Given the description of an element on the screen output the (x, y) to click on. 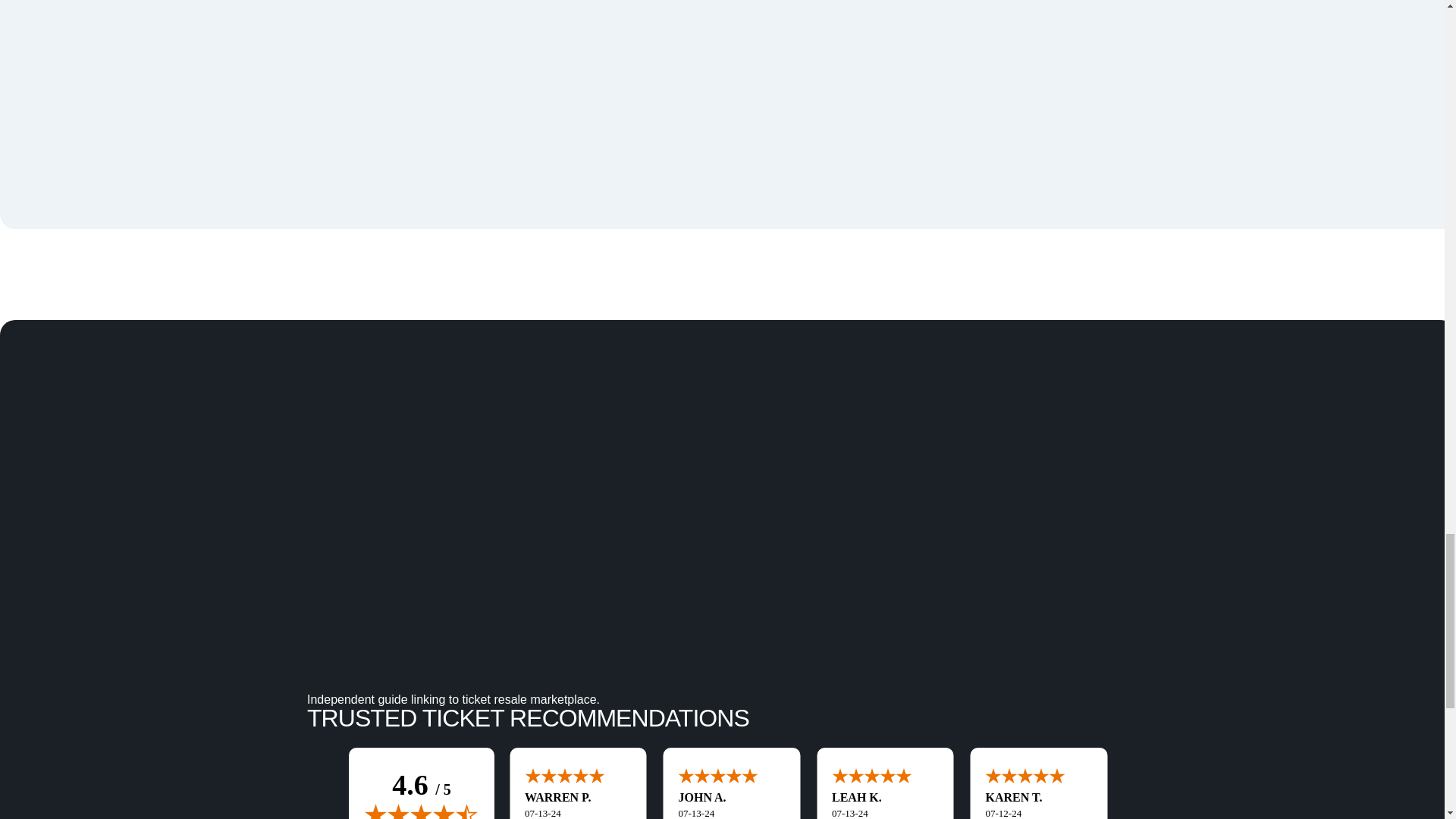
SUBSCRIBE (1095, 781)
